Given the description of an element on the screen output the (x, y) to click on. 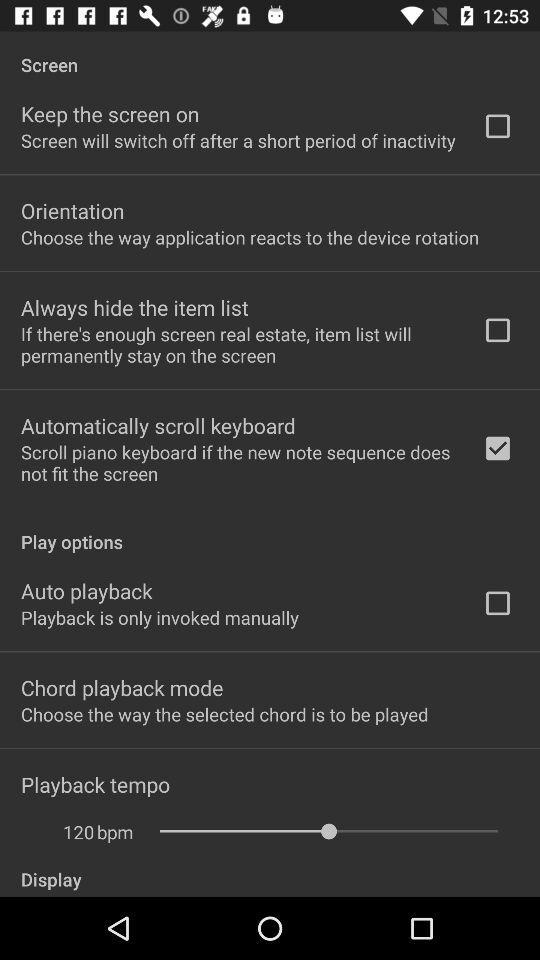
open the 120 icon (68, 831)
